Given the description of an element on the screen output the (x, y) to click on. 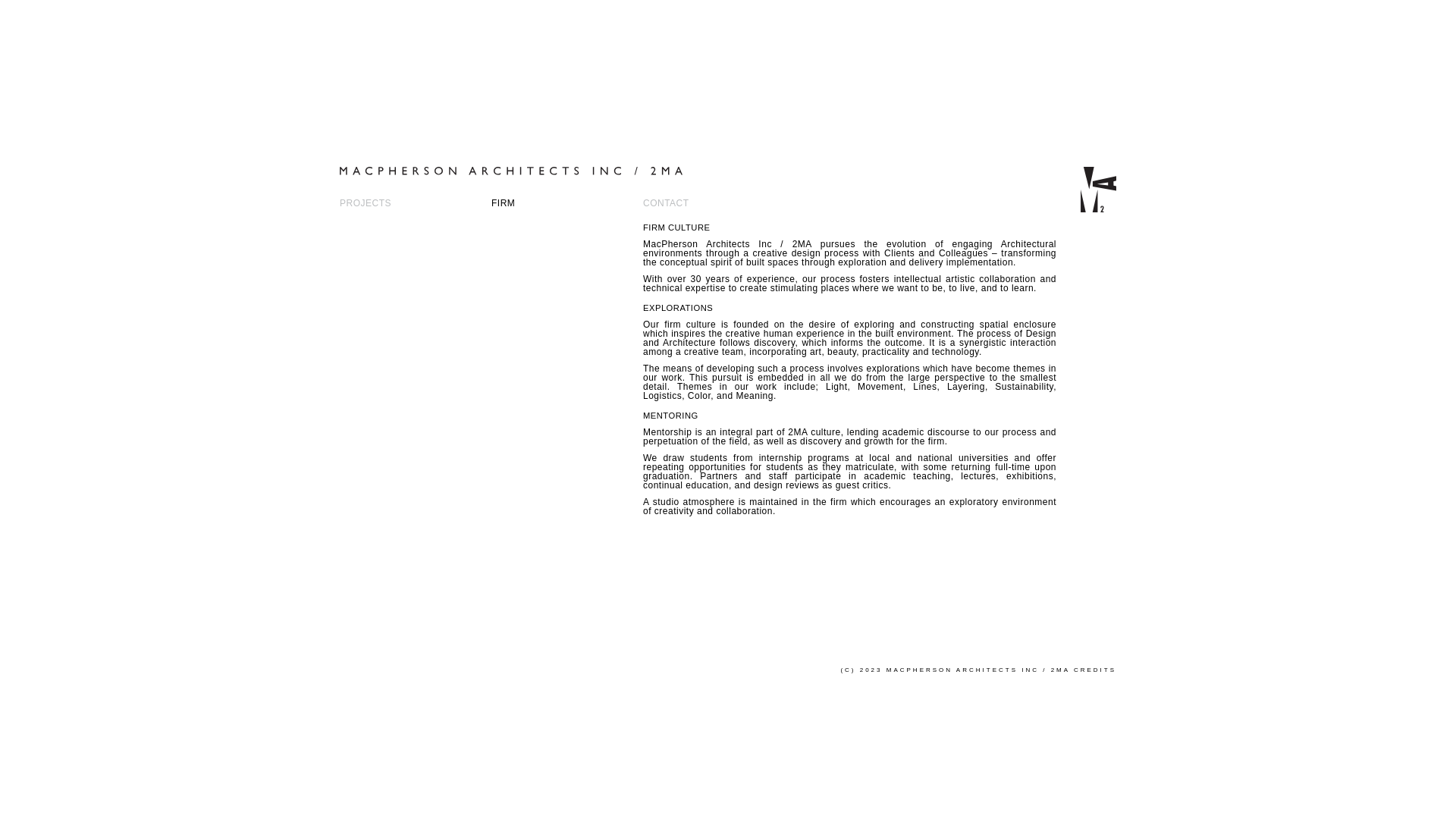
Back to MacPherson Architects Home Element type: hover (1093, 207)
CREDITS Element type: text (1094, 669)
FIRM Element type: text (502, 202)
Back to MacPherson Architects Home Element type: hover (704, 192)
PROJECTS Element type: text (365, 202)
CONTACT Element type: text (666, 202)
